Given the description of an element on the screen output the (x, y) to click on. 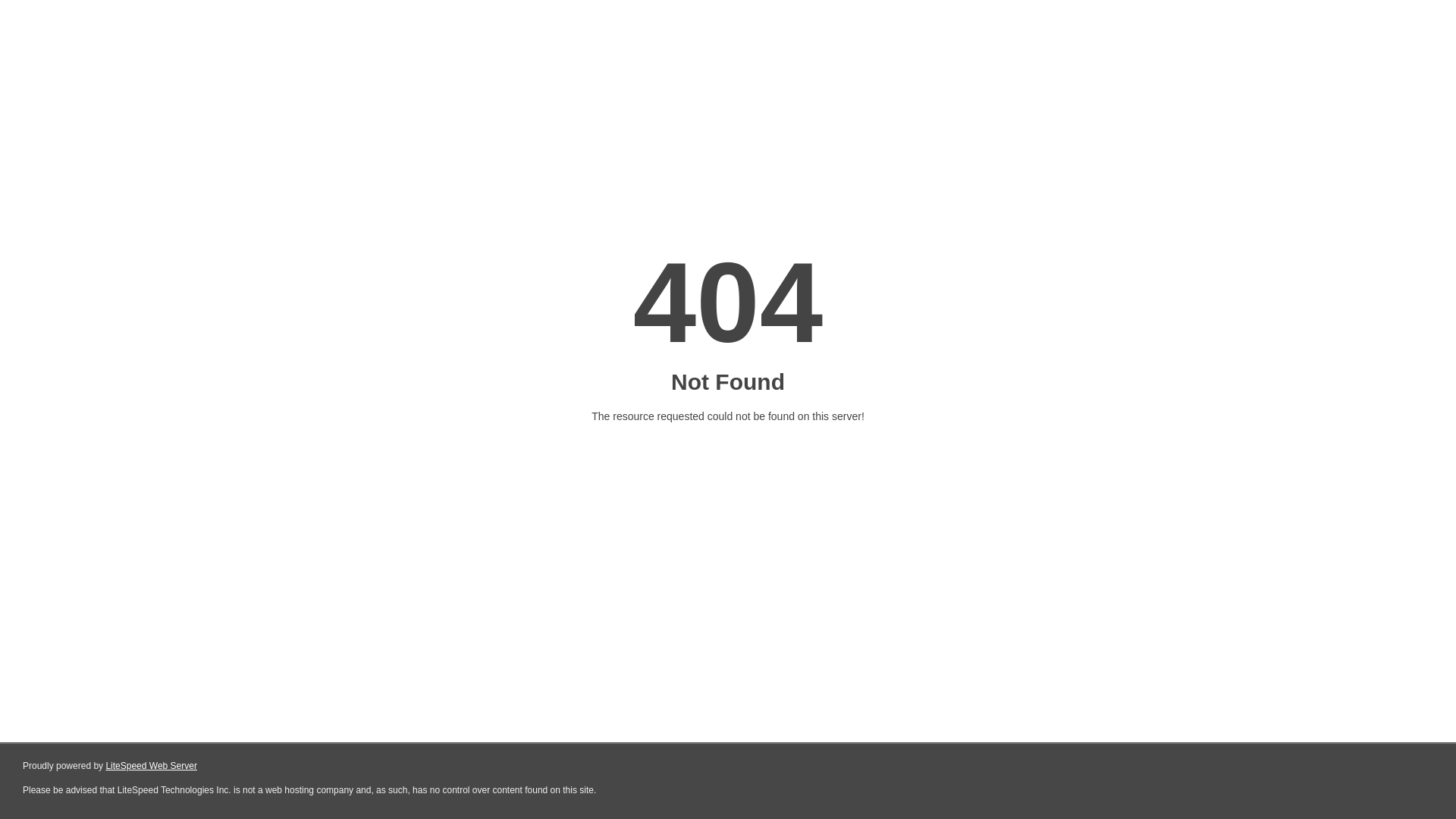
LiteSpeed Web Server Element type: text (151, 765)
